Given the description of an element on the screen output the (x, y) to click on. 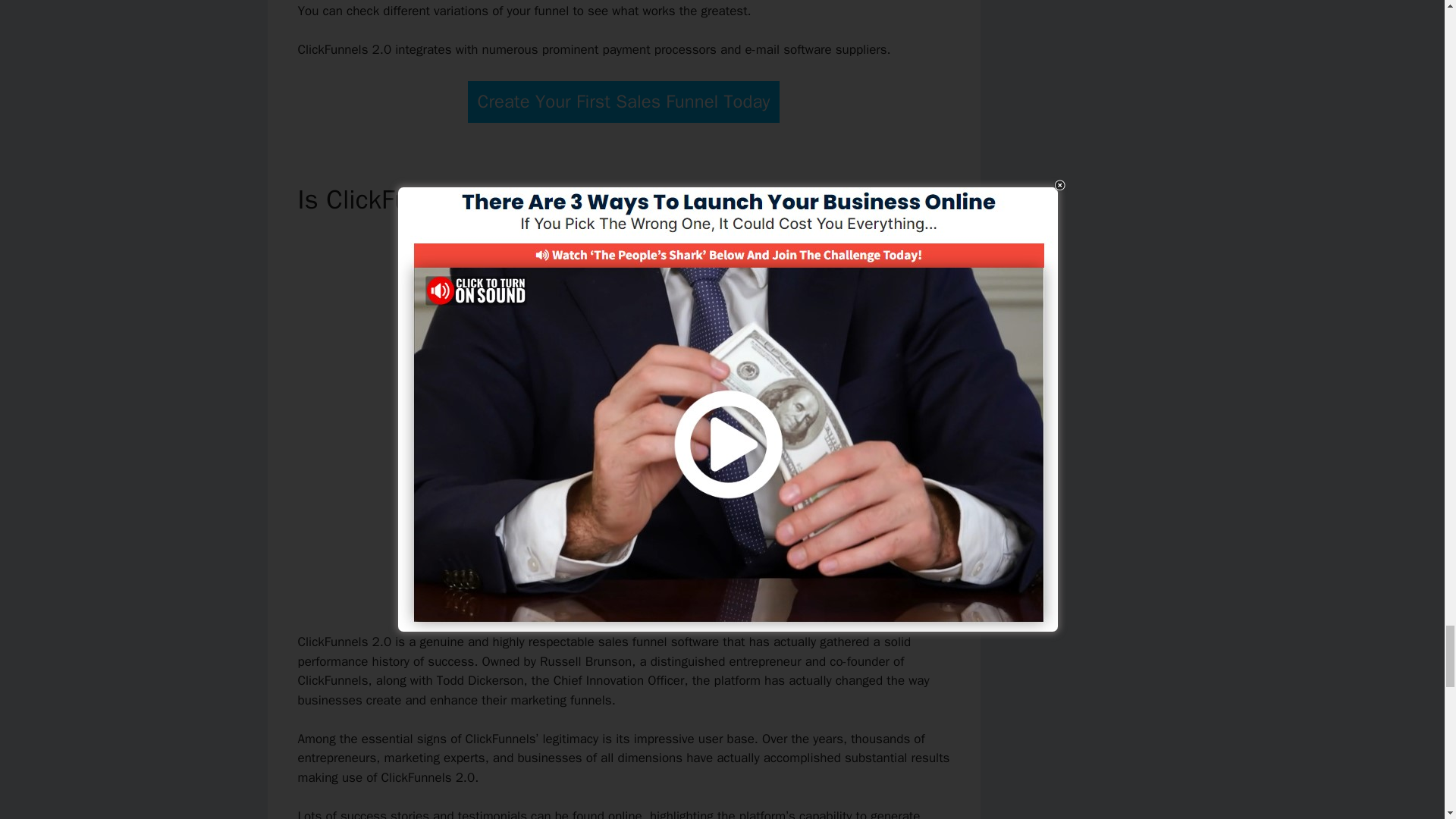
Create Your First Sales Funnel Today (623, 101)
